Given the description of an element on the screen output the (x, y) to click on. 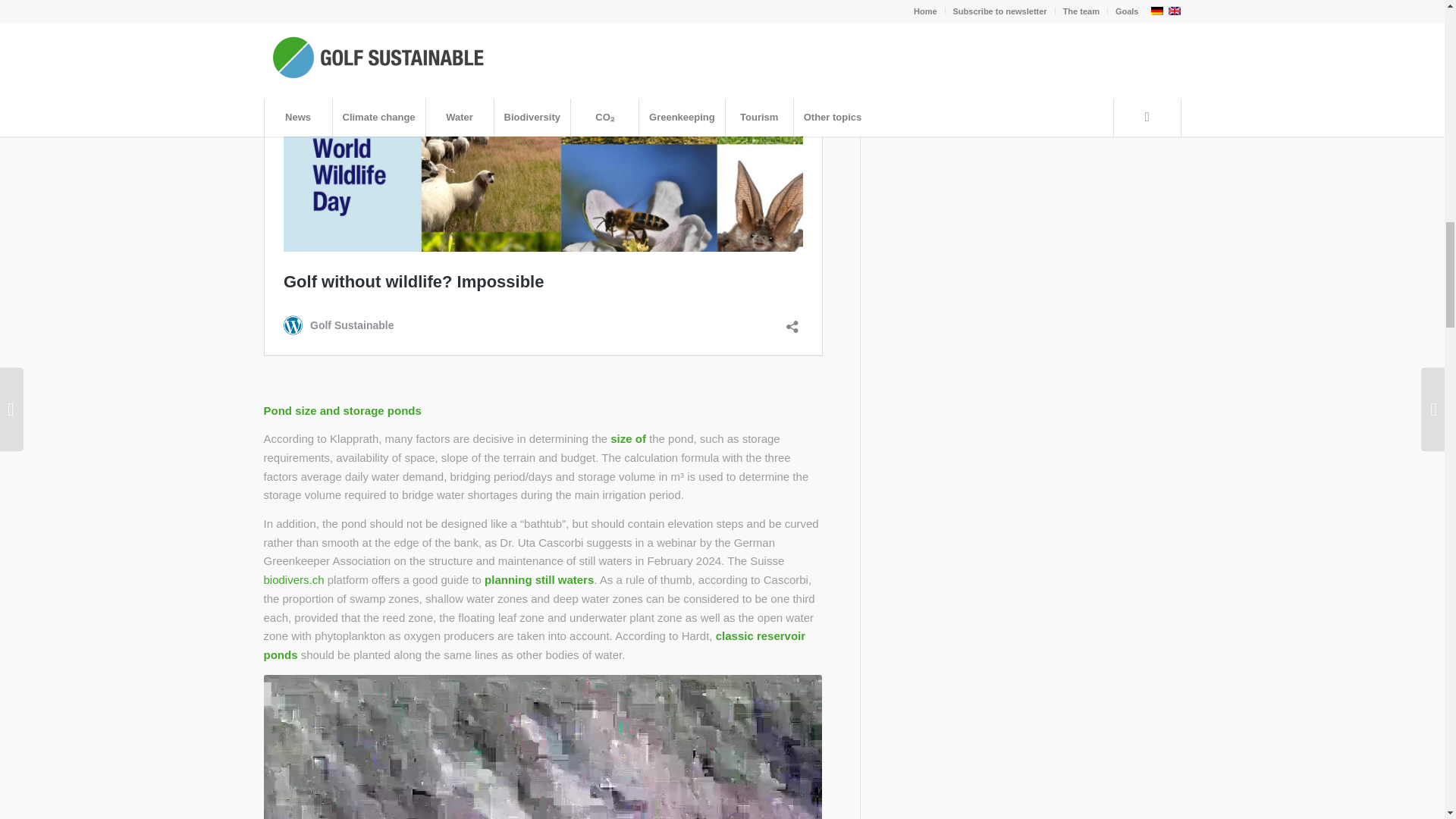
biodivers.ch (293, 579)
P1040997 (542, 746)
